Given the description of an element on the screen output the (x, y) to click on. 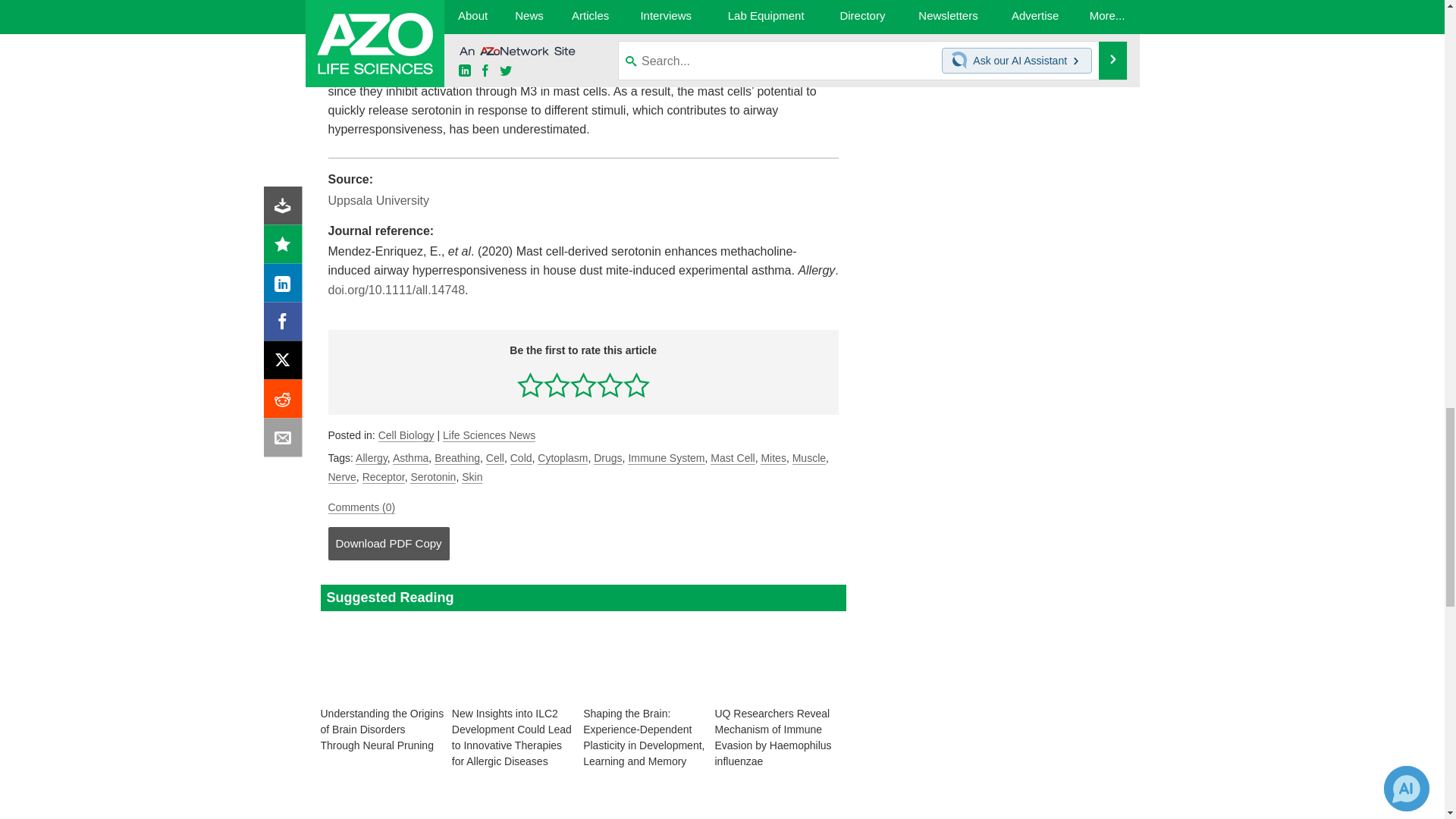
Rate this 5 stars out of 5 (636, 384)
